Given the description of an element on the screen output the (x, y) to click on. 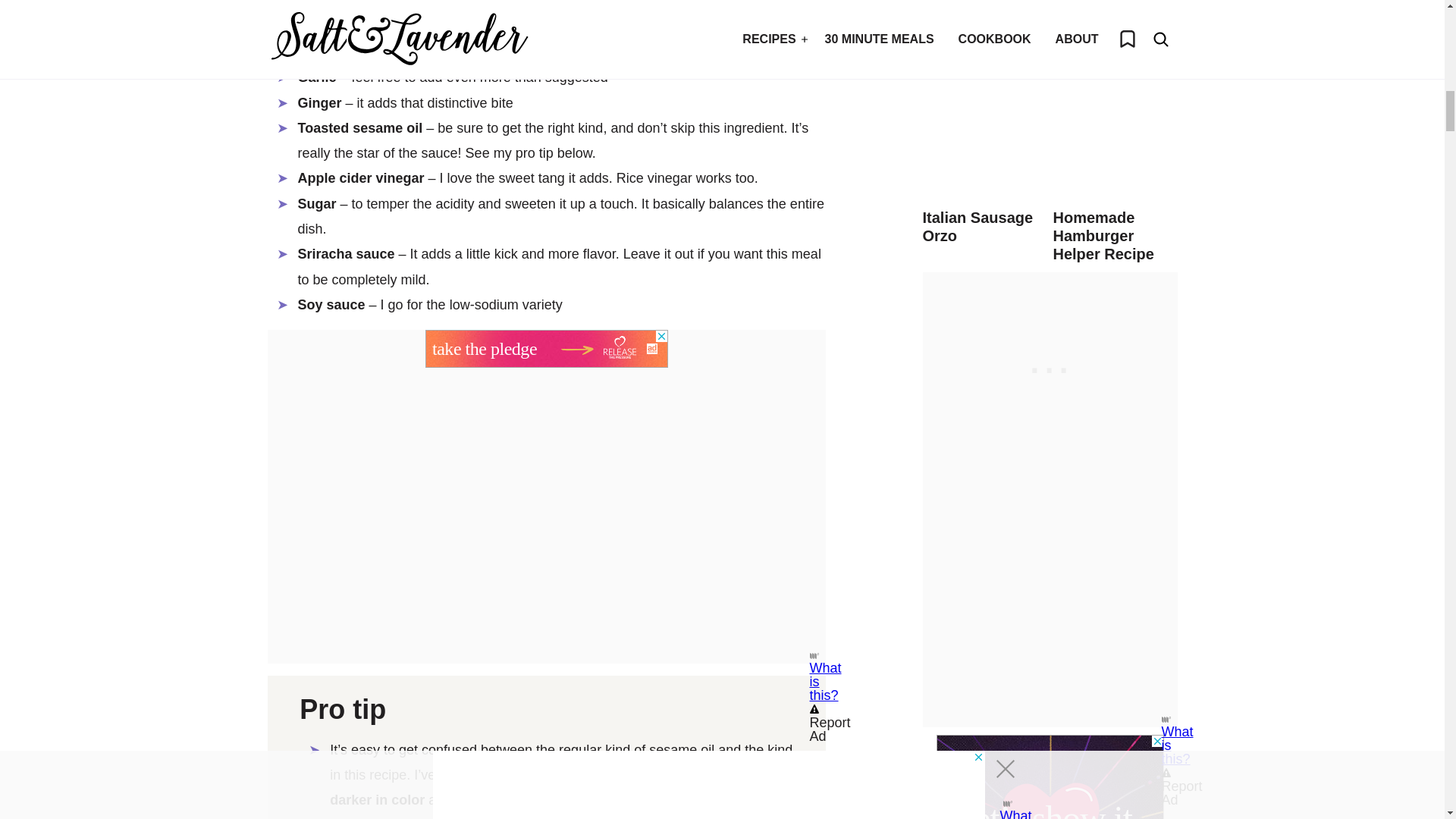
3rd party ad content (1049, 366)
3rd party ad content (1049, 776)
3rd party ad content (545, 348)
